Given the description of an element on the screen output the (x, y) to click on. 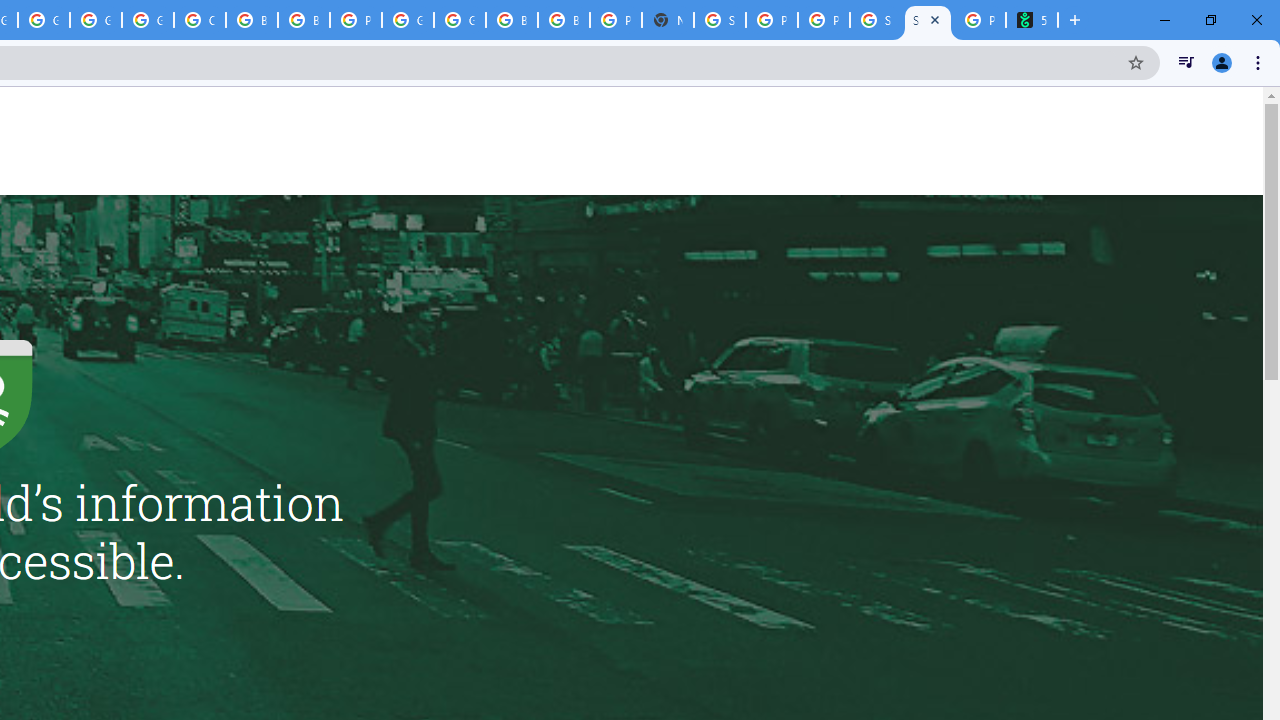
Google Cloud Platform (459, 20)
Google Cloud Platform (407, 20)
Browse Chrome as a guest - Computer - Google Chrome Help (511, 20)
New Tab (667, 20)
Google Cloud Platform (95, 20)
